Given the description of an element on the screen output the (x, y) to click on. 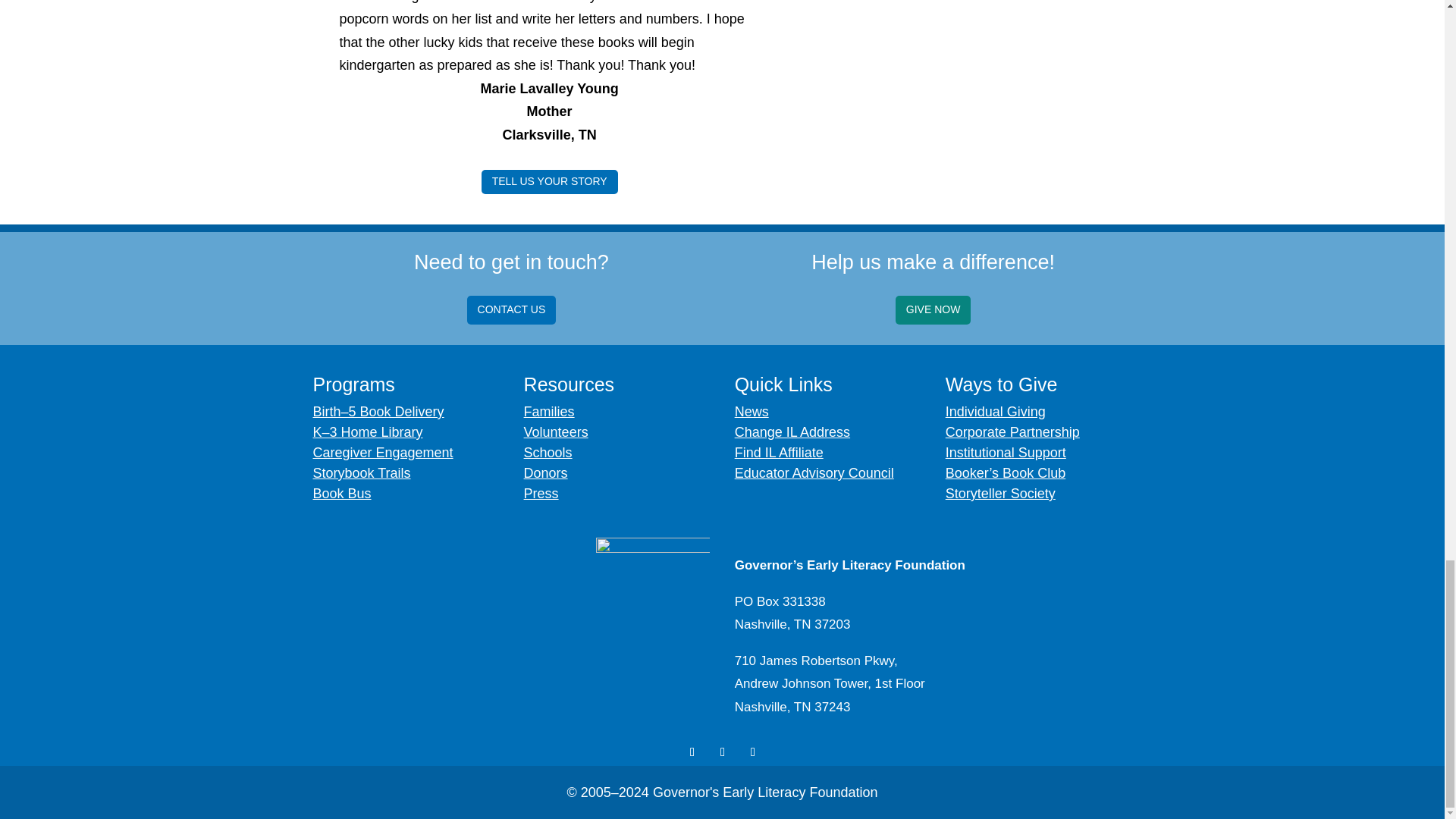
Follow on Facebook (691, 752)
Follow on X (753, 752)
Follow on Instagram (722, 752)
